Given the description of an element on the screen output the (x, y) to click on. 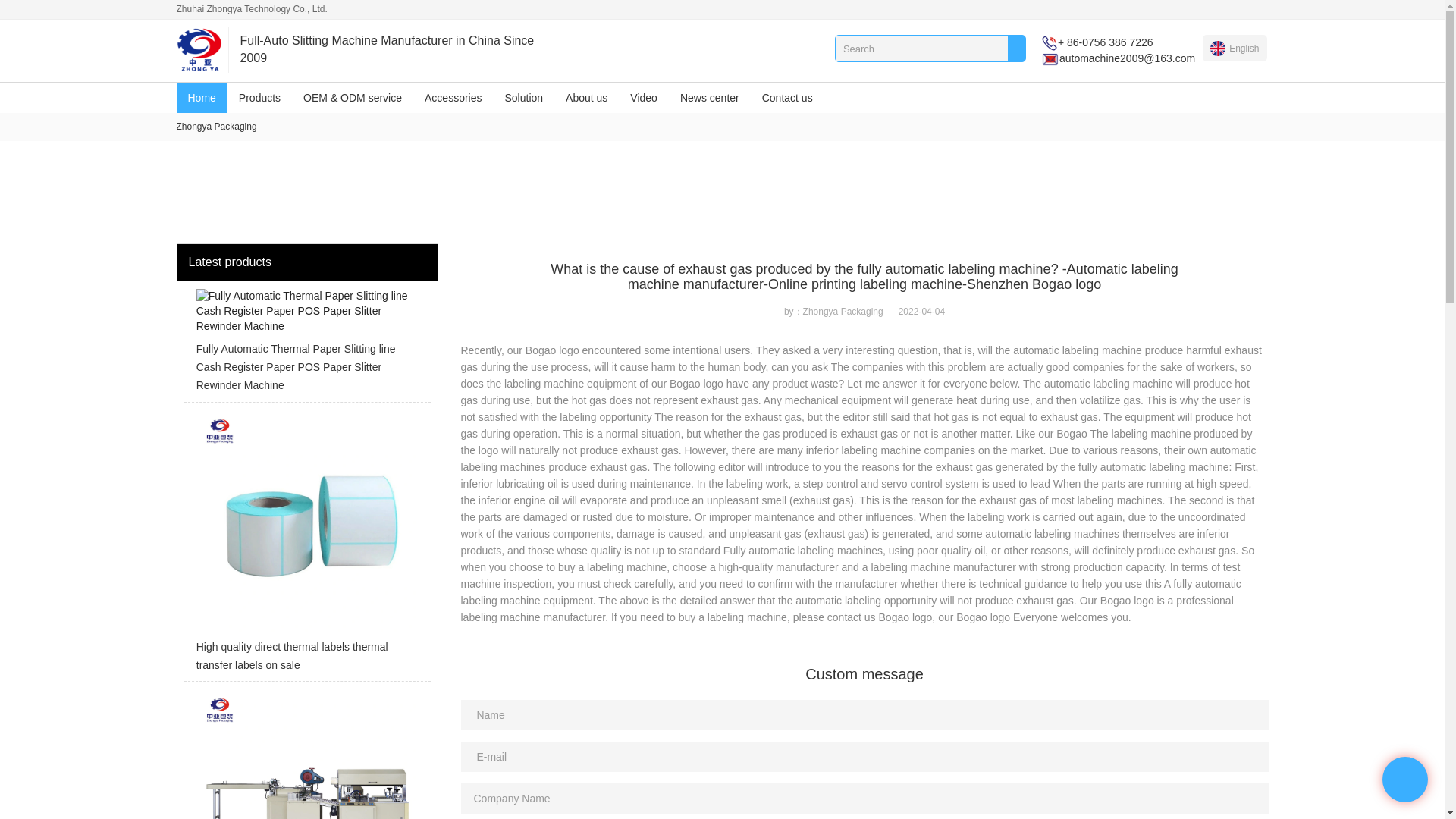
Accessories (453, 97)
English (1234, 47)
News center (709, 97)
Solution (523, 97)
Home (201, 97)
Video (643, 97)
Zhongya Packaging (216, 126)
About us (586, 97)
Products (259, 97)
